Given the description of an element on the screen output the (x, y) to click on. 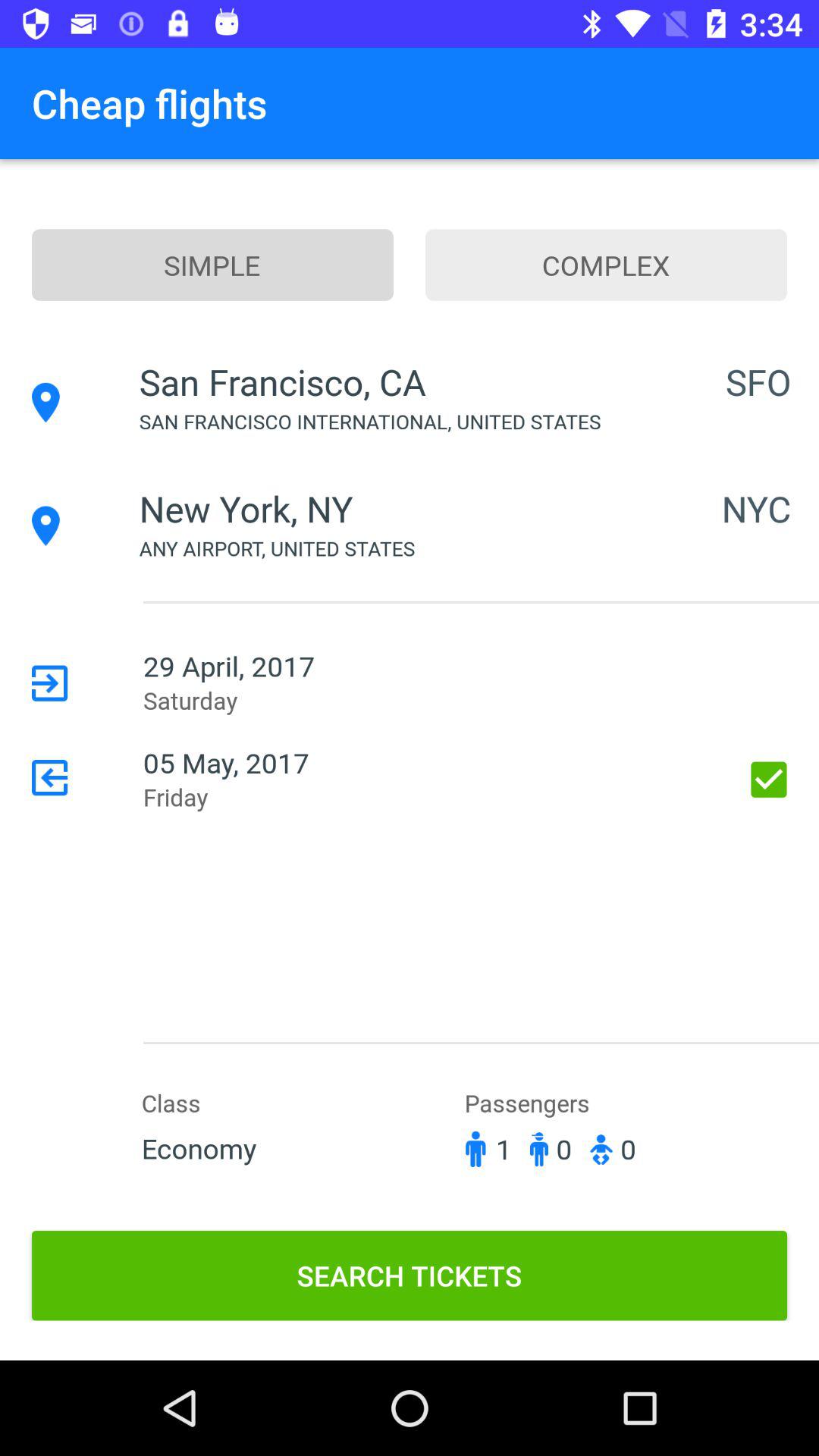
turn on item next to 05 may, 2017 icon (768, 779)
